Given the description of an element on the screen output the (x, y) to click on. 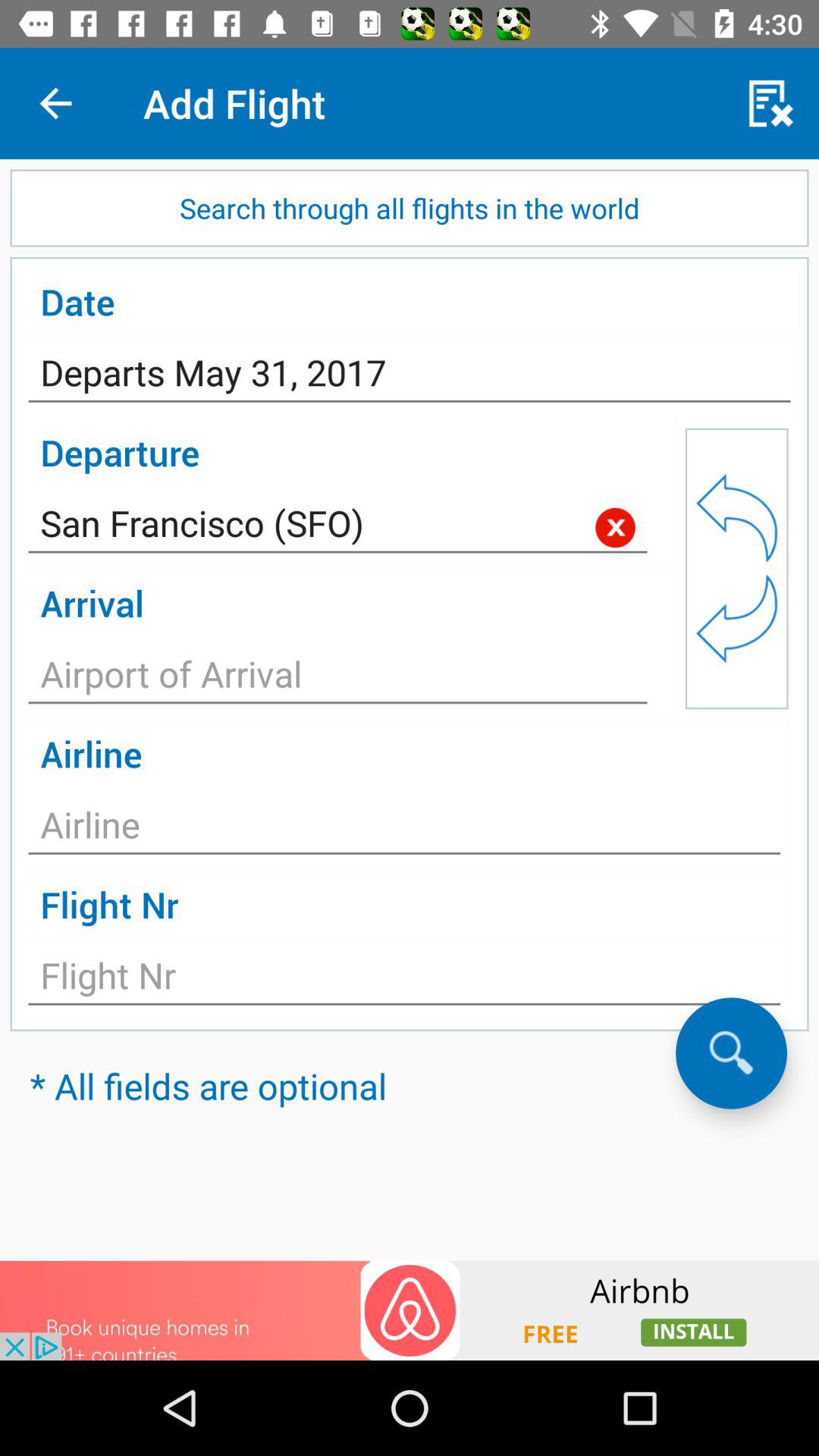
click on magnifying icon to search terms (731, 1053)
